Given the description of an element on the screen output the (x, y) to click on. 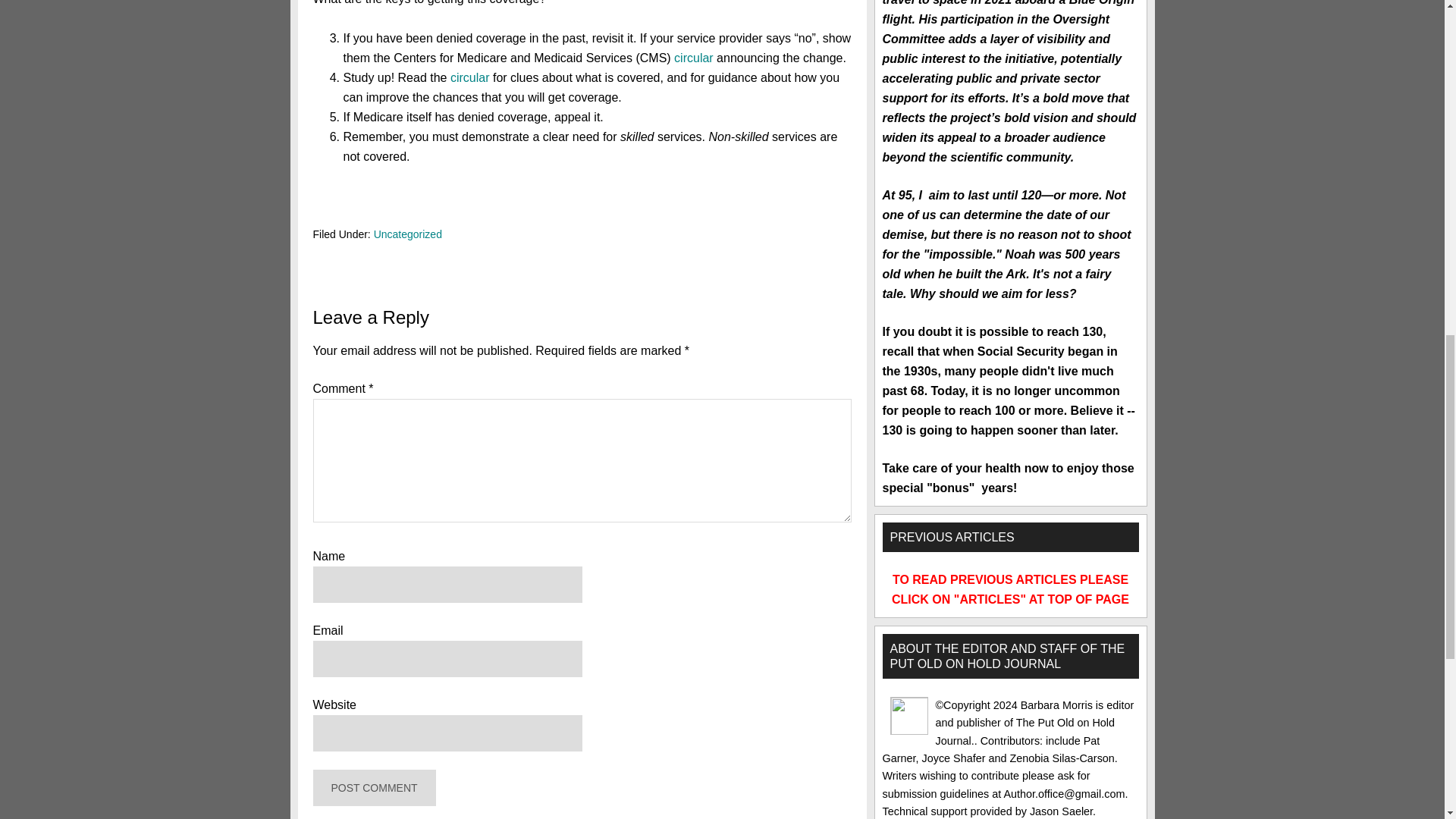
circular (469, 77)
Post Comment (374, 787)
circular (693, 57)
Uncategorized (408, 234)
Post Comment (374, 787)
